Given the description of an element on the screen output the (x, y) to click on. 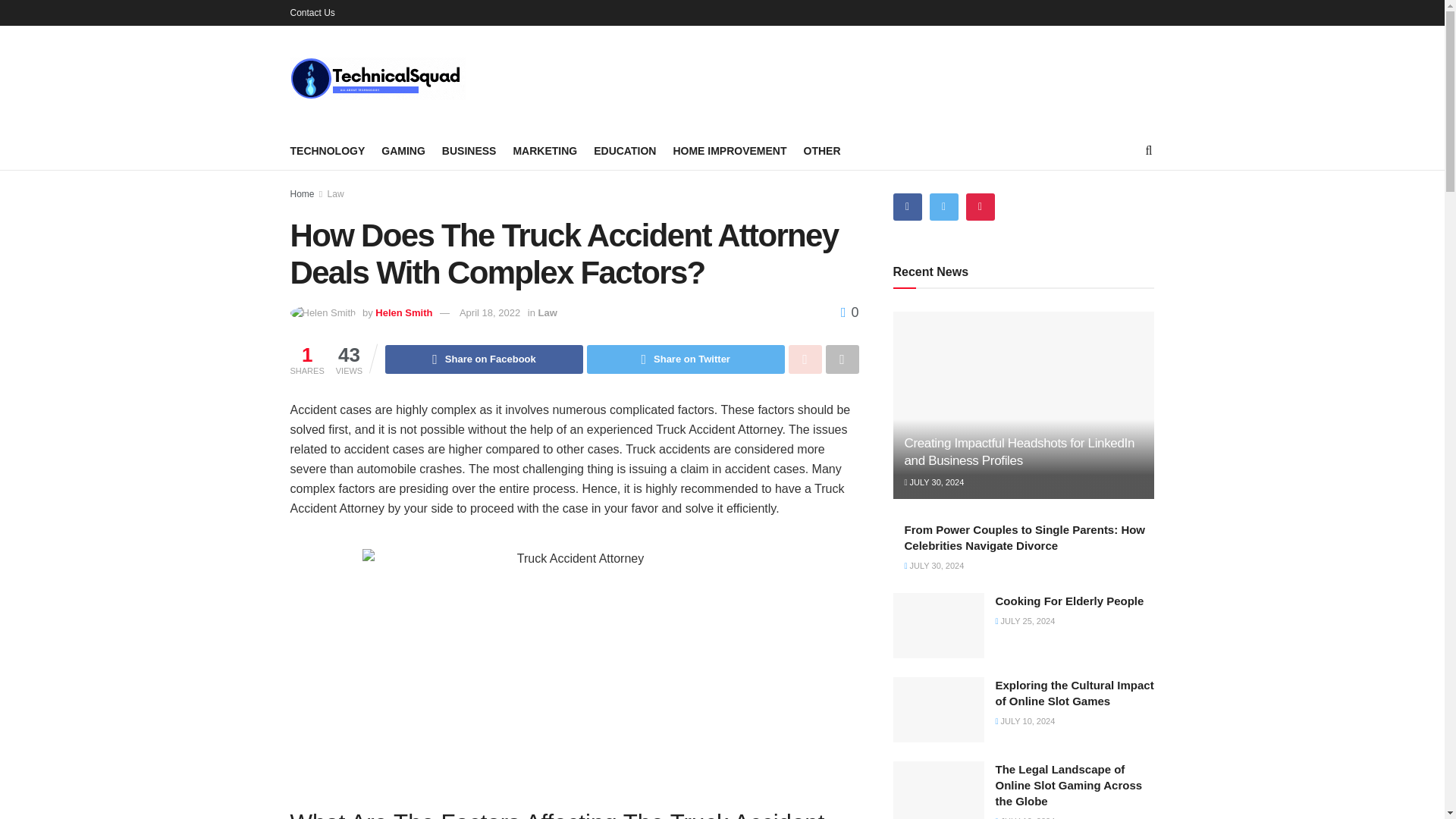
MARKETING (544, 150)
OTHER (822, 150)
EDUCATION (625, 150)
Contact Us (311, 12)
GAMING (403, 150)
TECHNOLOGY (327, 150)
HOME IMPROVEMENT (729, 150)
BUSINESS (469, 150)
